Given the description of an element on the screen output the (x, y) to click on. 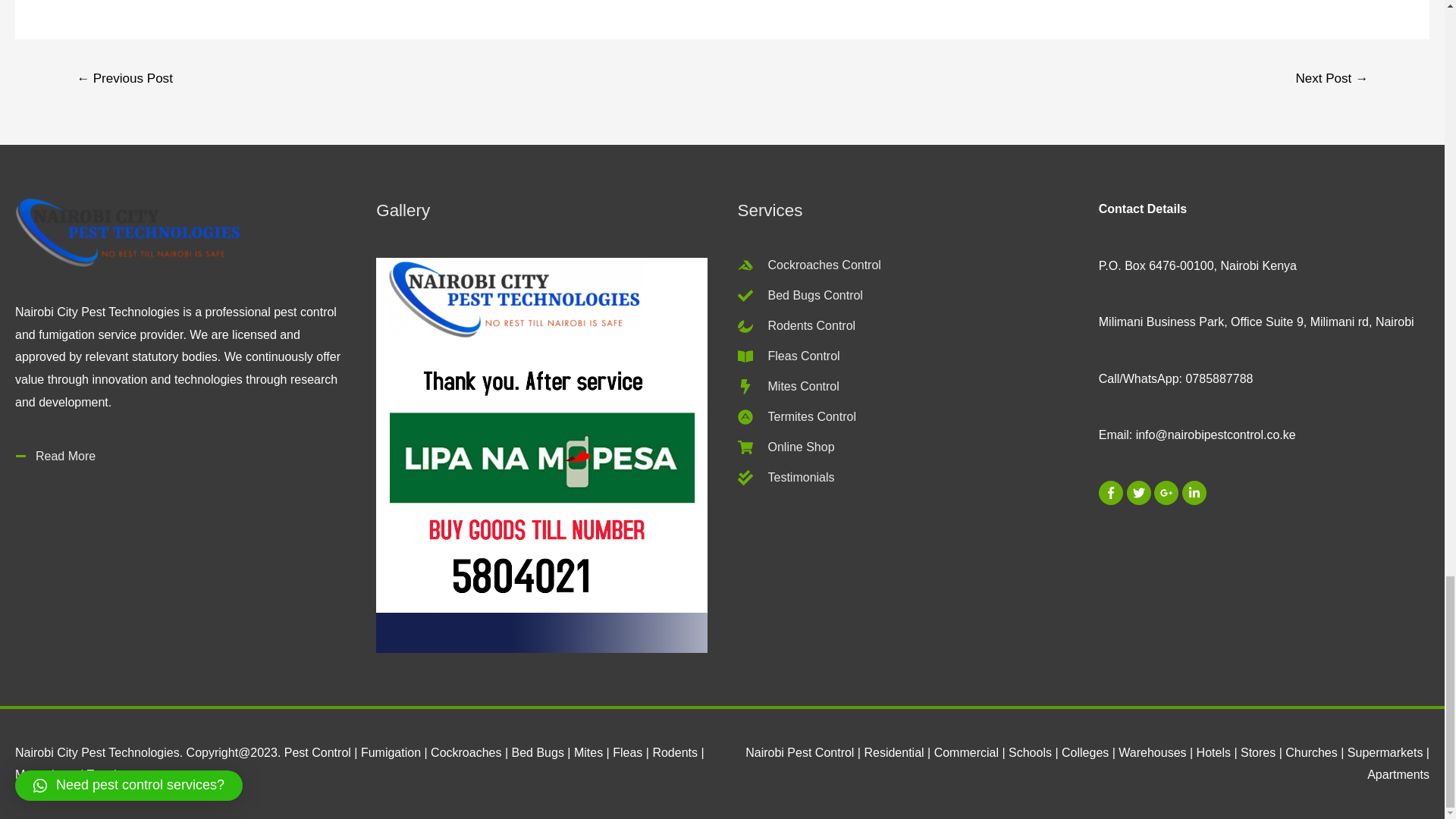
Read More (55, 456)
Rodents Control (796, 325)
Bed Bugs Control (798, 295)
Fleas Control (788, 355)
Termites Control (796, 417)
Mites Control (787, 386)
Cockroaches Control (808, 264)
